Given the description of an element on the screen output the (x, y) to click on. 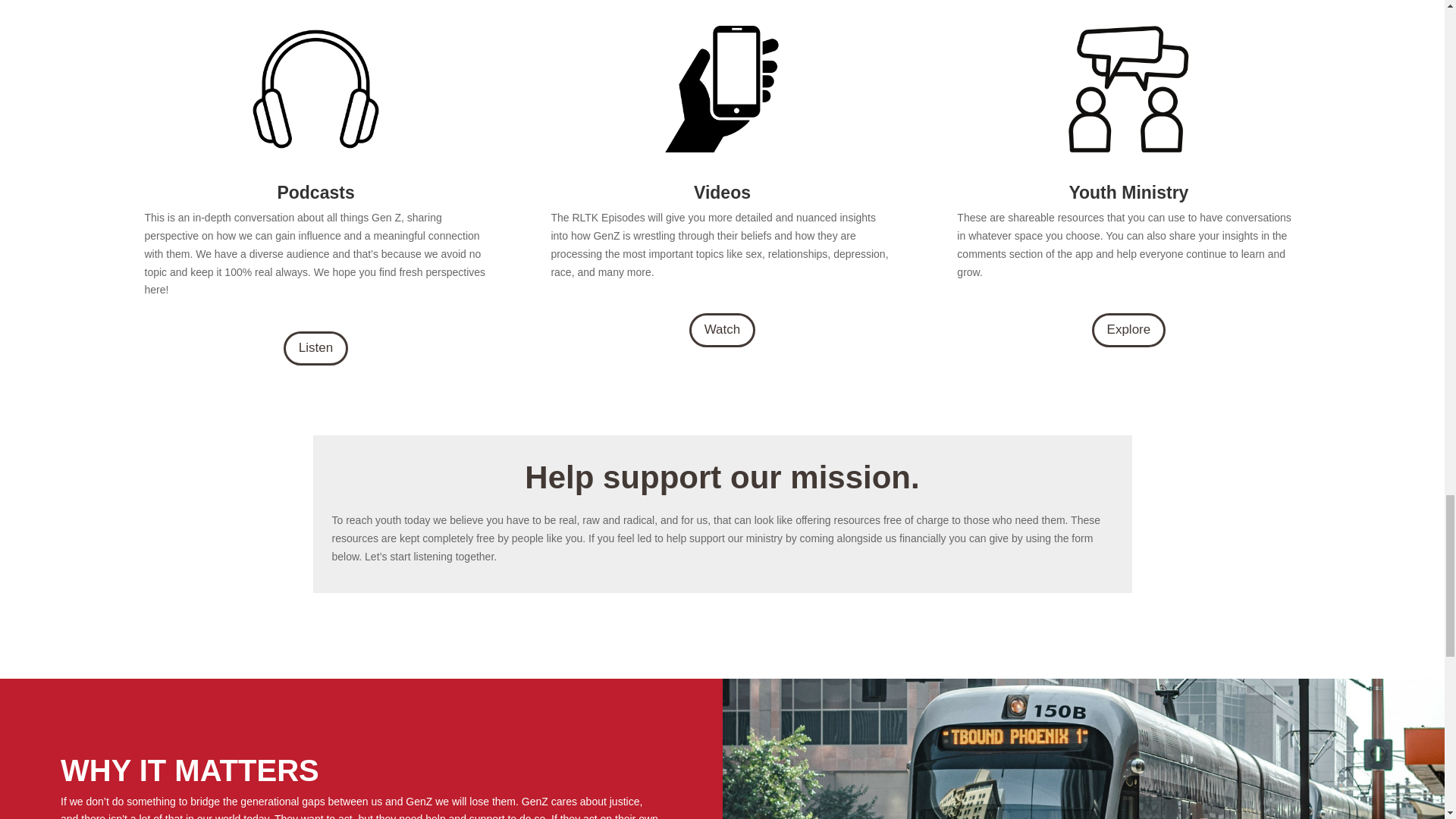
Watch (721, 329)
13 (314, 88)
Listen (315, 348)
Explore (1129, 329)
14 (722, 88)
15 (1128, 88)
